Given the description of an element on the screen output the (x, y) to click on. 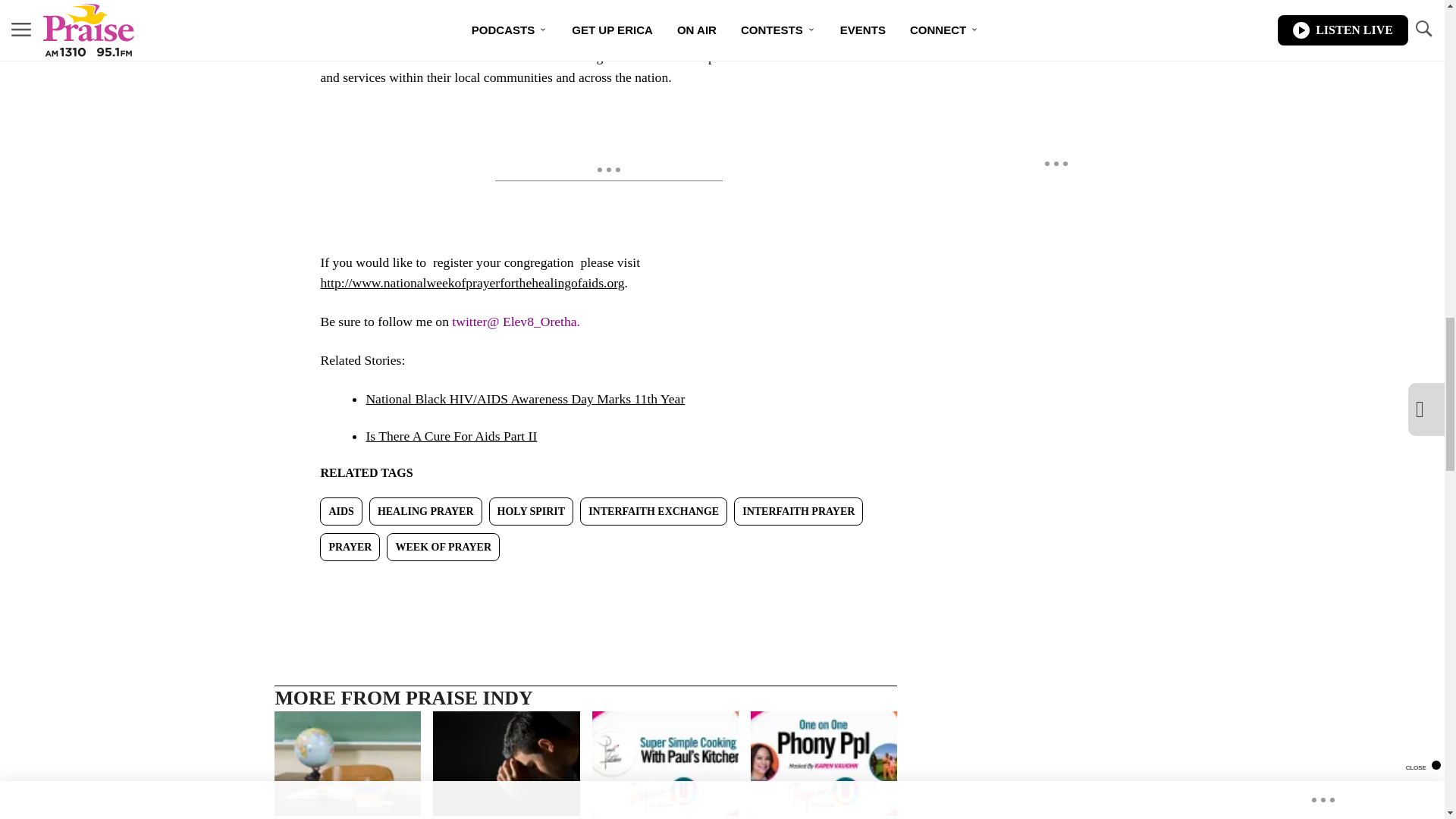
Is There A Cure For Aids Part II (451, 435)
HEALING PRAYER (425, 511)
Vuukle Sharebar Widget (585, 585)
Is There A Cure For Aids Part II (451, 435)
AIDS (340, 511)
